Given the description of an element on the screen output the (x, y) to click on. 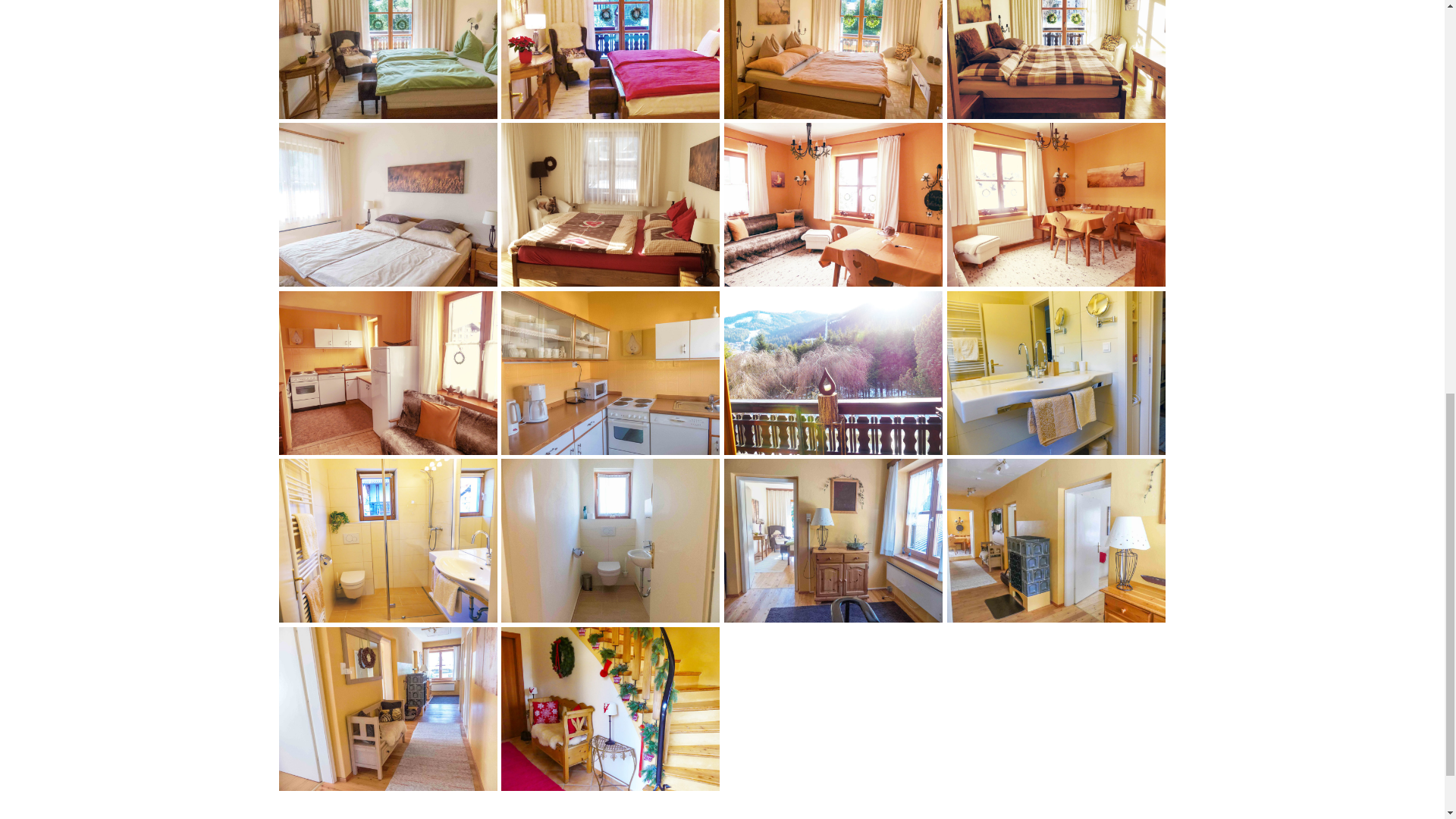
Zimmer 1 (609, 59)
Zimmer 2 (1056, 59)
Zimmer 3 (609, 204)
Zimmer 2 (832, 59)
Zimmer 1 (388, 59)
Zimmer 3 (388, 204)
